Given the description of an element on the screen output the (x, y) to click on. 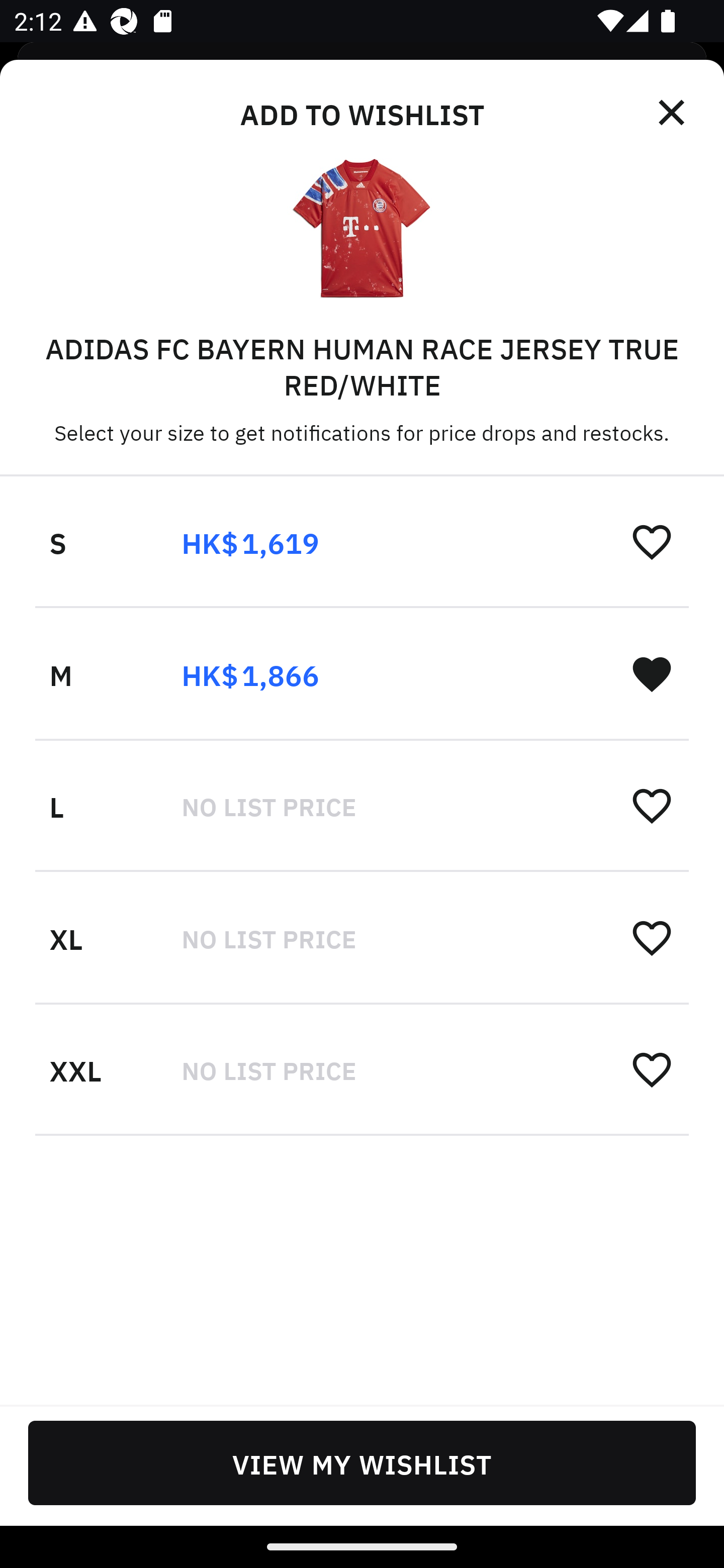
 (672, 112)
󰋕 (651, 541)
󰋑 (651, 673)
󰋕 (651, 804)
󰋕 (651, 936)
󰋕 (651, 1068)
VIEW MY WISHLIST (361, 1462)
